Given the description of an element on the screen output the (x, y) to click on. 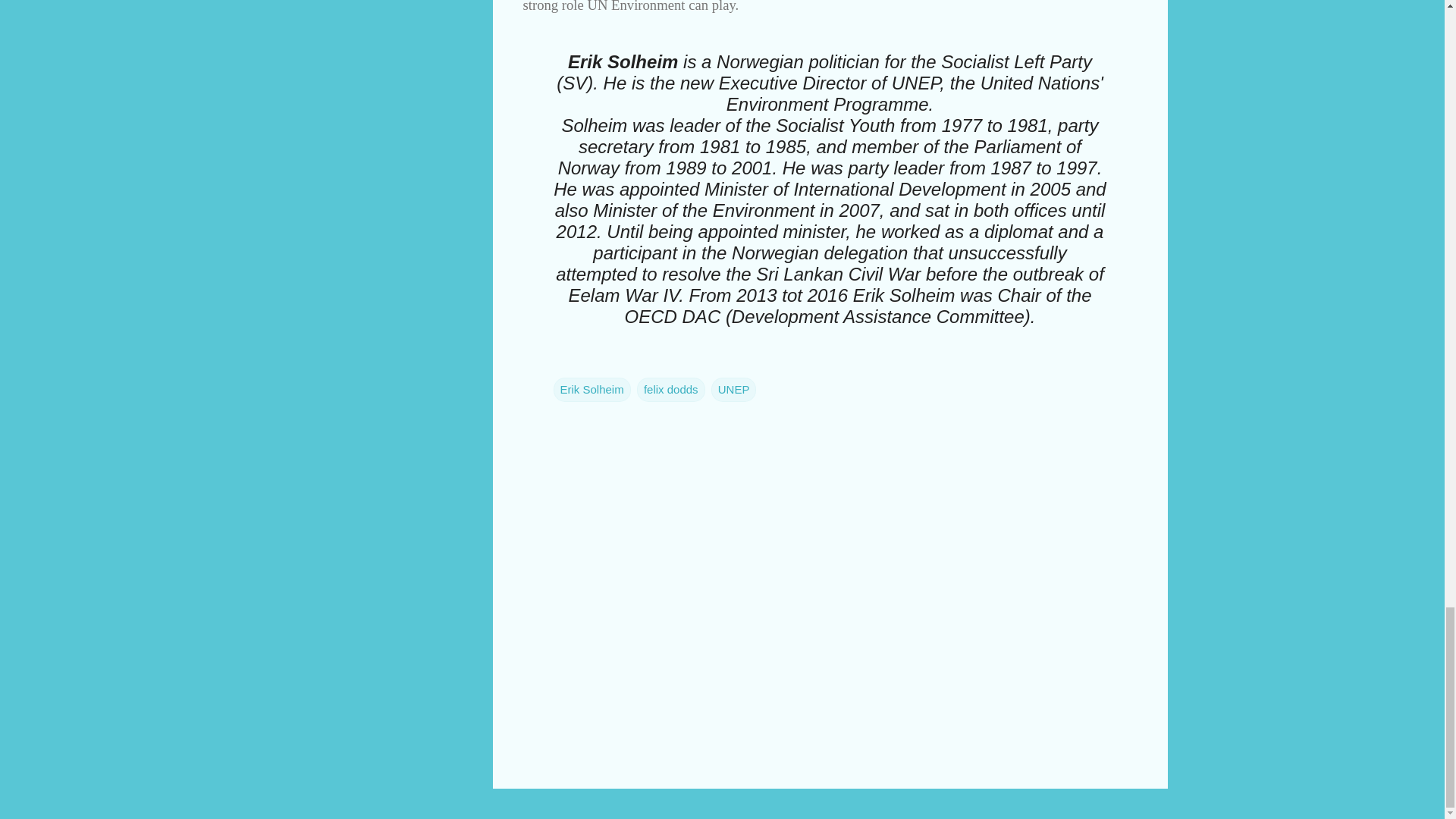
Erik Solheim (591, 388)
UNEP (734, 388)
felix dodds (670, 388)
